Given the description of an element on the screen output the (x, y) to click on. 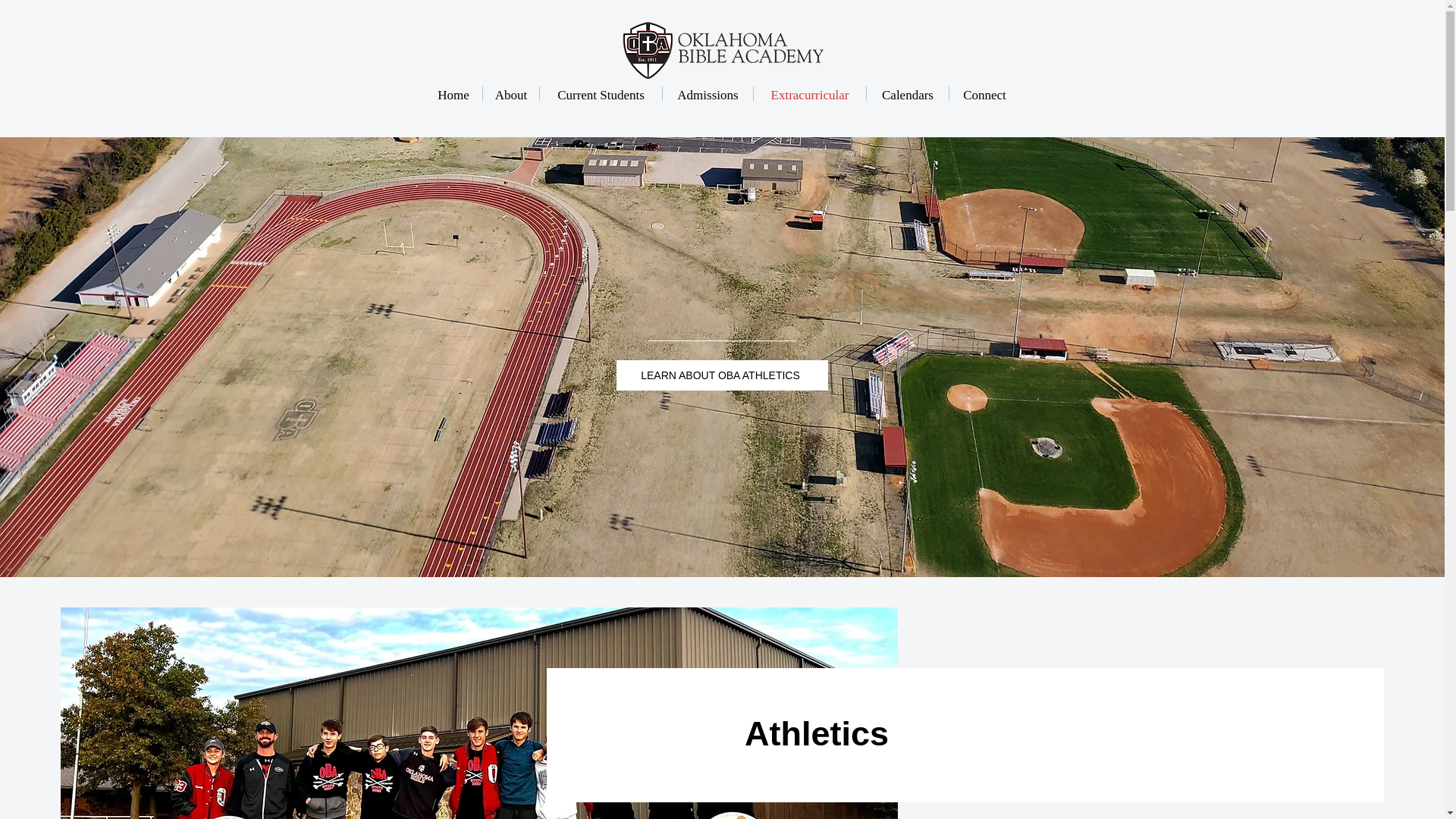
Calendars (907, 93)
Current Students (601, 93)
Admissions (707, 93)
Home (453, 93)
About (510, 93)
Extracurricular (810, 93)
Connect (984, 93)
LEARN ABOUT OBA ATHLETICS (721, 375)
